Given the description of an element on the screen output the (x, y) to click on. 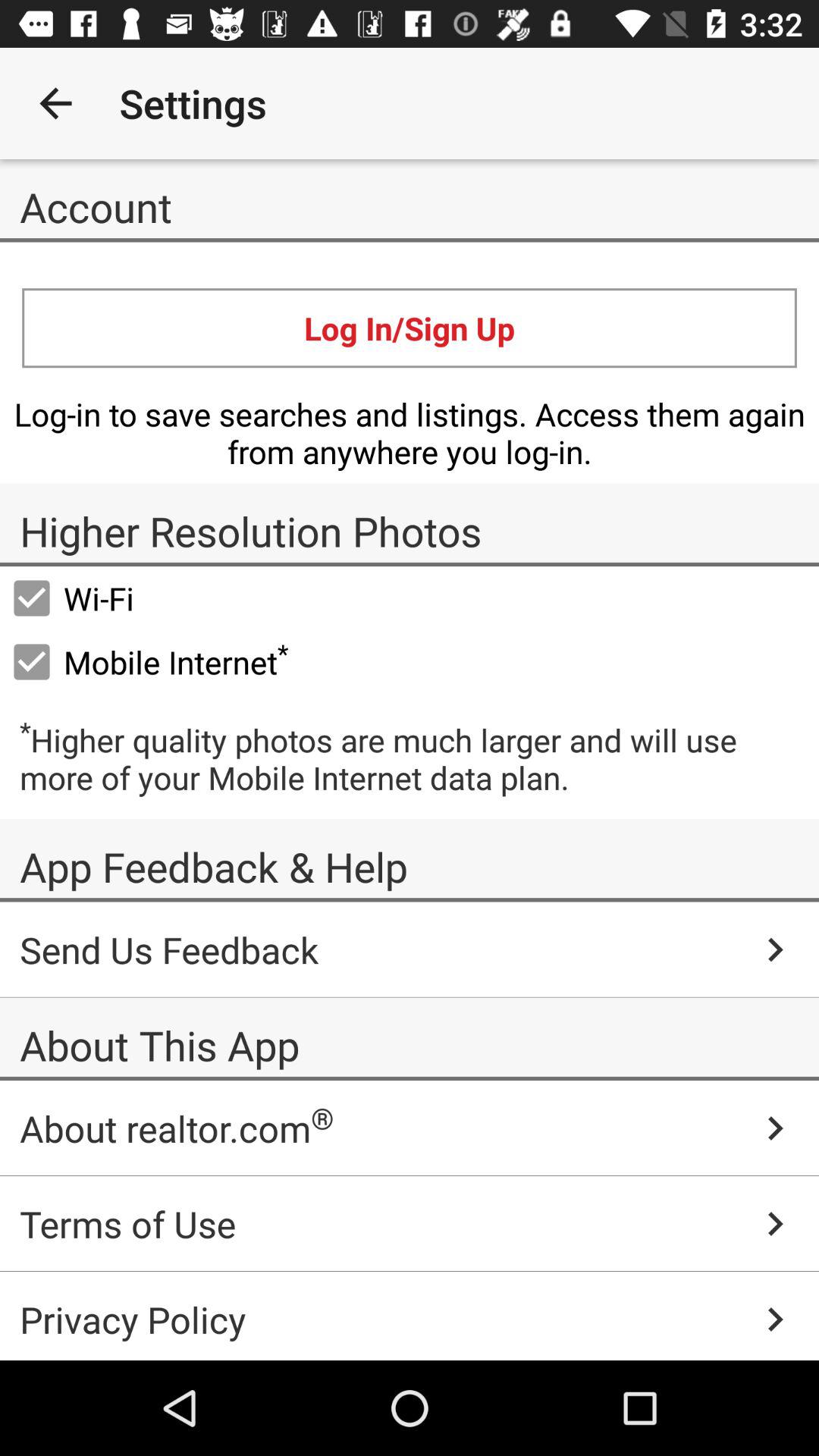
go back (55, 103)
